Given the description of an element on the screen output the (x, y) to click on. 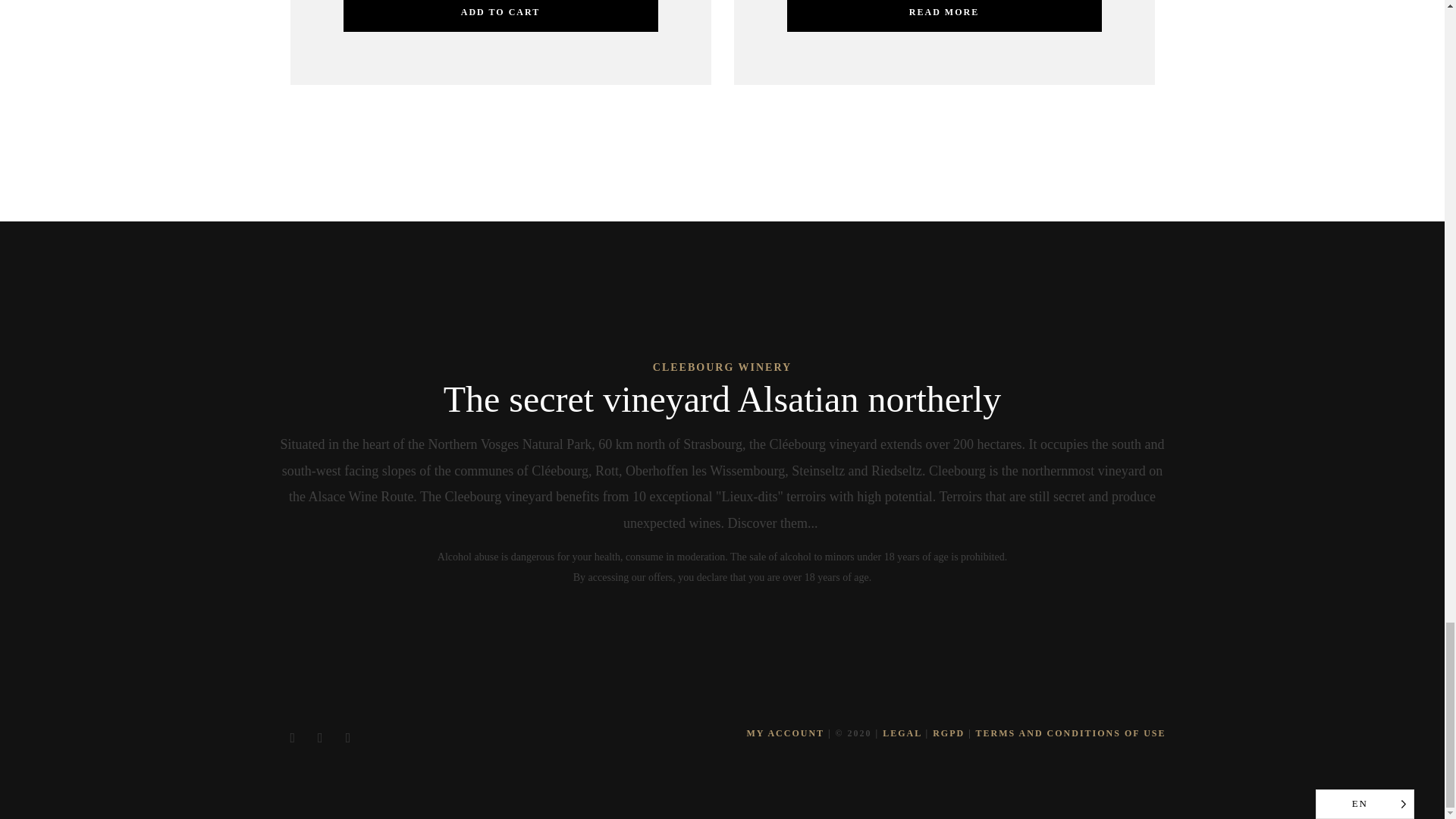
ADD TO CART (500, 15)
MY ACCOUNT (785, 733)
READ MORE (944, 15)
